Given the description of an element on the screen output the (x, y) to click on. 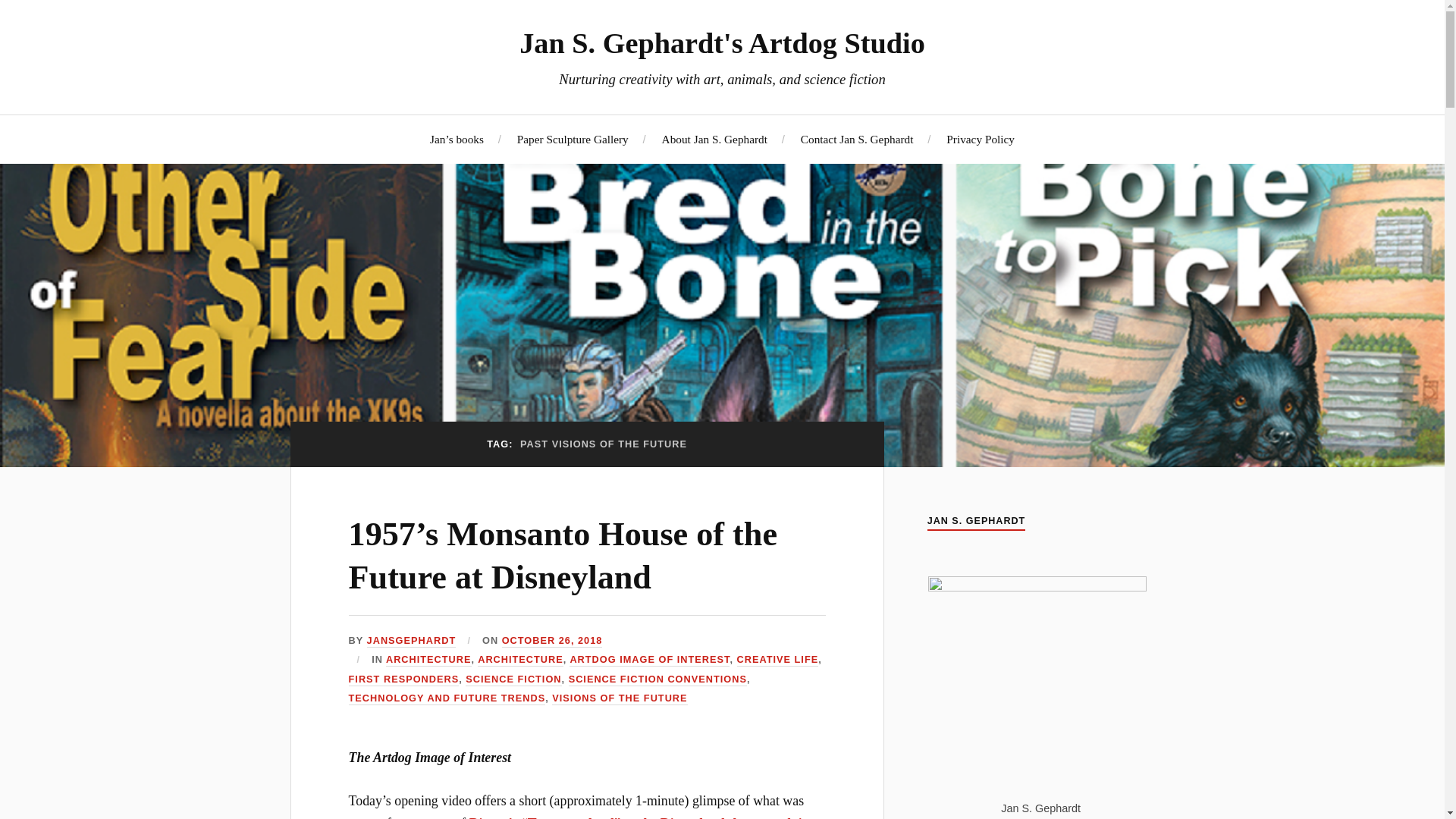
SCIENCE FICTION (512, 679)
ARCHITECTURE (428, 659)
OCTOBER 26, 2018 (552, 640)
FIRST RESPONDERS (404, 679)
SCIENCE FICTION CONVENTIONS (657, 679)
Paper Sculpture Gallery (572, 138)
Jan S. Gephardt's Artdog Studio (721, 42)
VISIONS OF THE FUTURE (619, 698)
Contact Jan S. Gephardt (857, 138)
ARCHITECTURE (520, 659)
Posts by jansgephardt (411, 640)
About Jan S. Gephardt (714, 138)
JANSGEPHARDT (411, 640)
ARTDOG IMAGE OF INTEREST (649, 659)
TECHNOLOGY AND FUTURE TRENDS (447, 698)
